Given the description of an element on the screen output the (x, y) to click on. 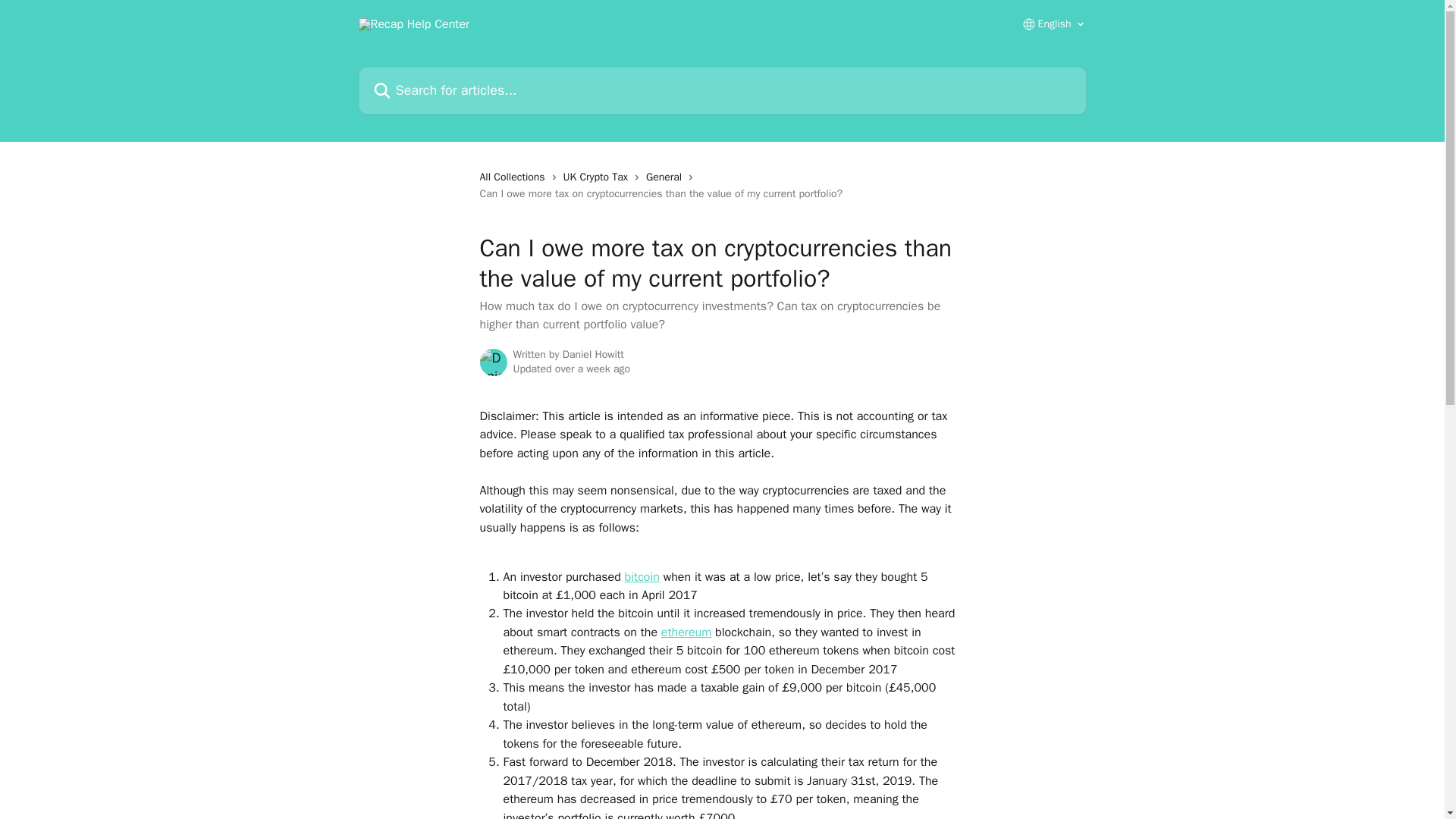
bitcoin (641, 576)
ethereum (686, 631)
All Collections (514, 176)
General (666, 176)
UK Crypto Tax (598, 176)
